Given the description of an element on the screen output the (x, y) to click on. 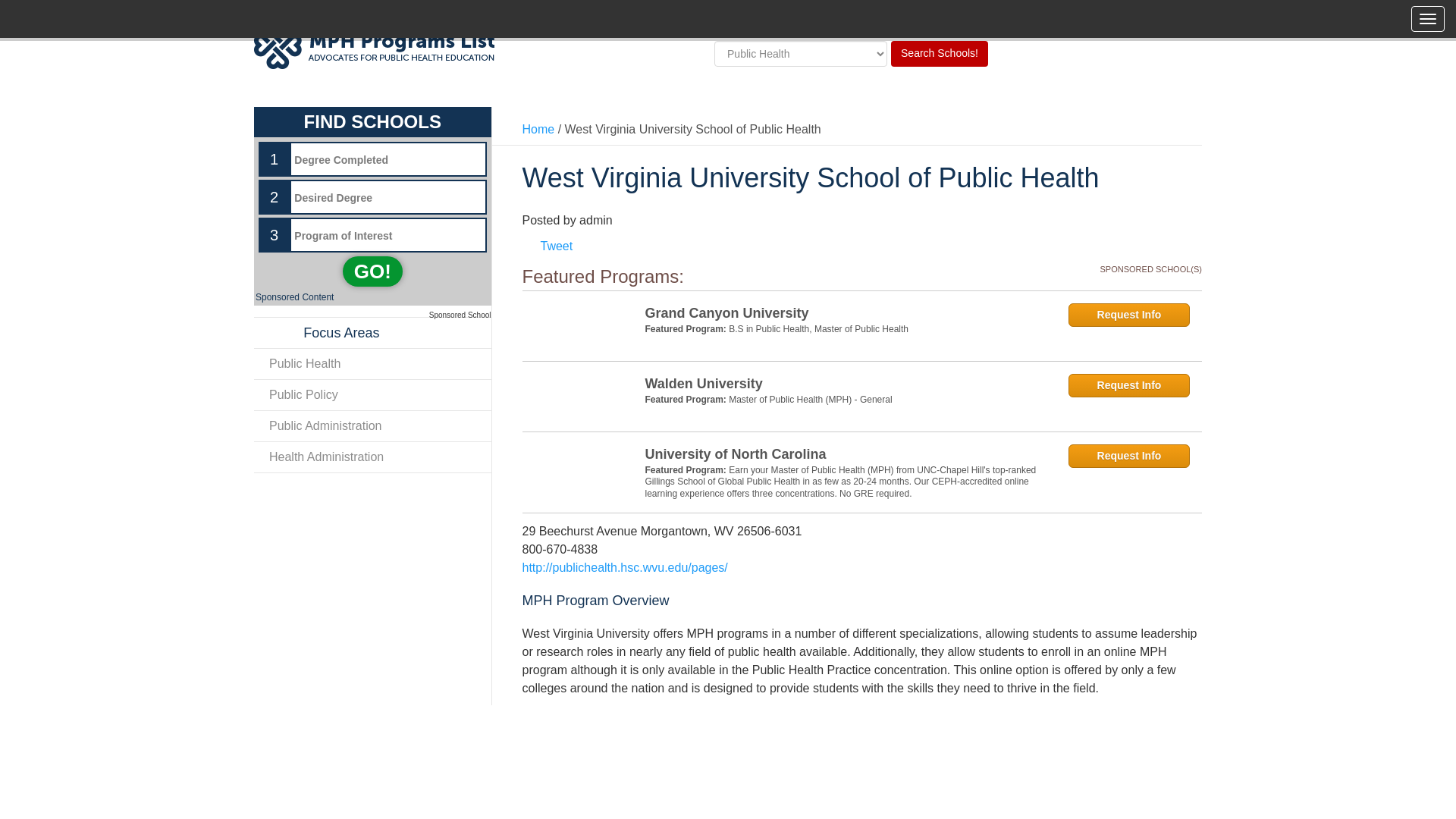
Health Administration (372, 457)
GO! (372, 271)
Request Info (1128, 314)
Search Schools! (939, 53)
Public Administration (372, 426)
B.S in Public Health, Master of Public Health (818, 328)
Public Health (372, 363)
University of North Carolina (846, 454)
Home (537, 128)
Add Your School (1149, 23)
